Given the description of an element on the screen output the (x, y) to click on. 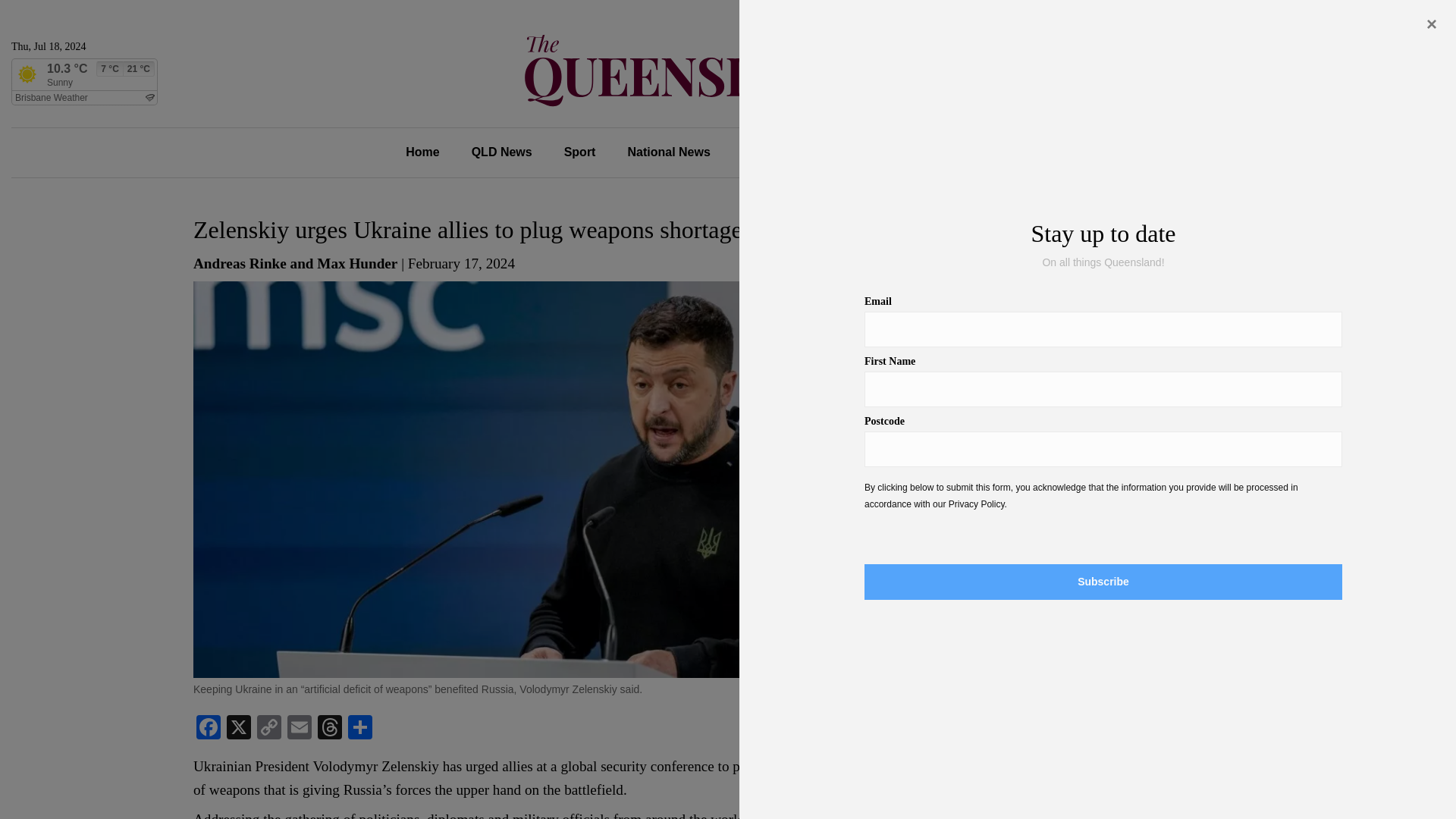
Store (1002, 152)
Schmidt makes mass changes as Wallabies face Georgia (1138, 456)
Email (298, 728)
Threads (329, 728)
Facebook (208, 728)
Subscribe (1404, 152)
Lifestyle (851, 152)
X (238, 728)
Copy Link (268, 728)
Senior cop dodged booze test, lied over crash: watchdog (1134, 320)
Search (1112, 670)
Sport (579, 152)
QLD News (501, 152)
Threads (329, 728)
Brisbane Forecast (84, 97)
